Given the description of an element on the screen output the (x, y) to click on. 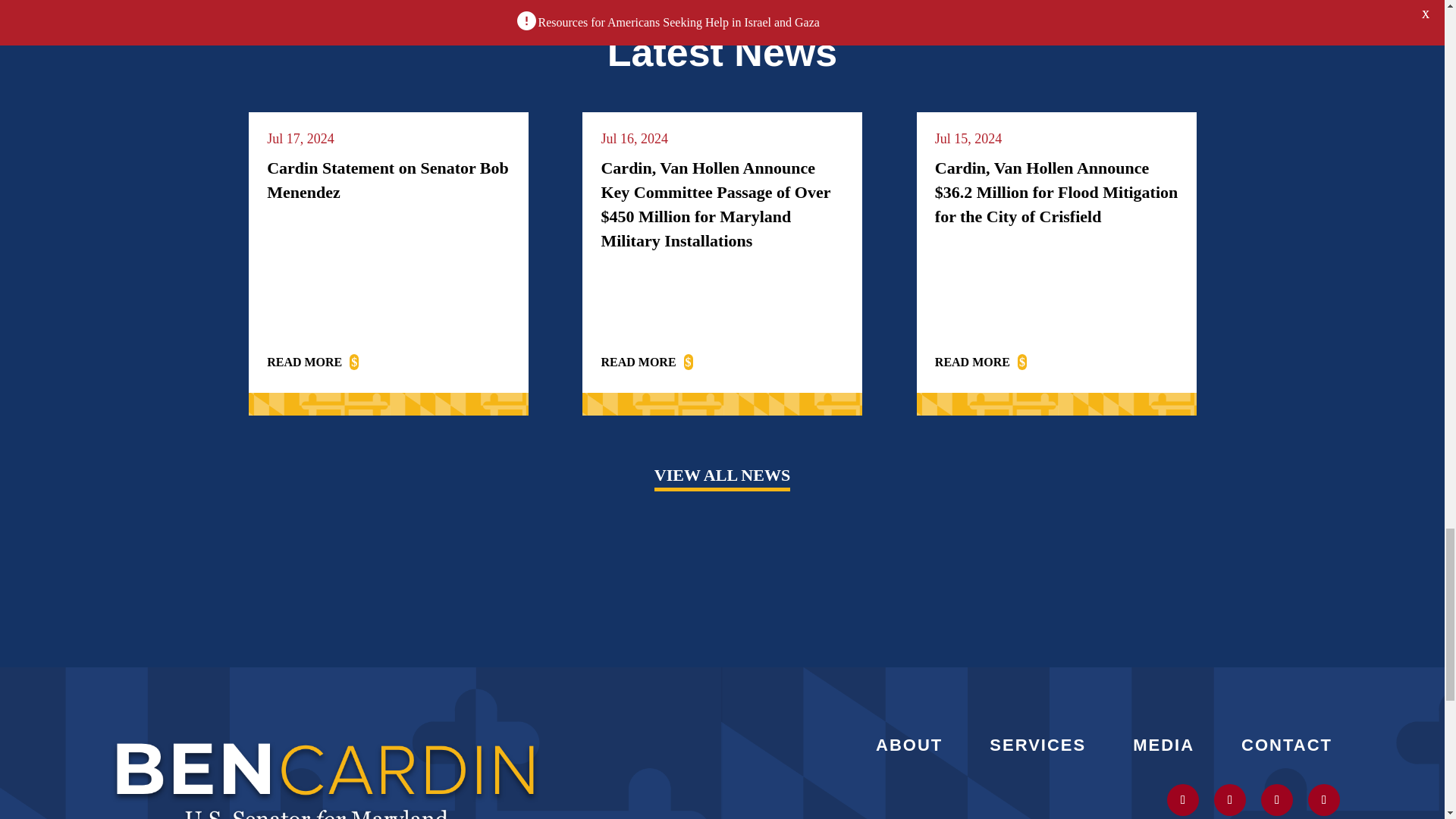
Follow on X (1182, 799)
Footer (326, 773)
Follow on Instagram (1230, 799)
Crab (722, 5)
Follow on Youtube (1276, 799)
Follow on Facebook (1323, 799)
